Given the description of an element on the screen output the (x, y) to click on. 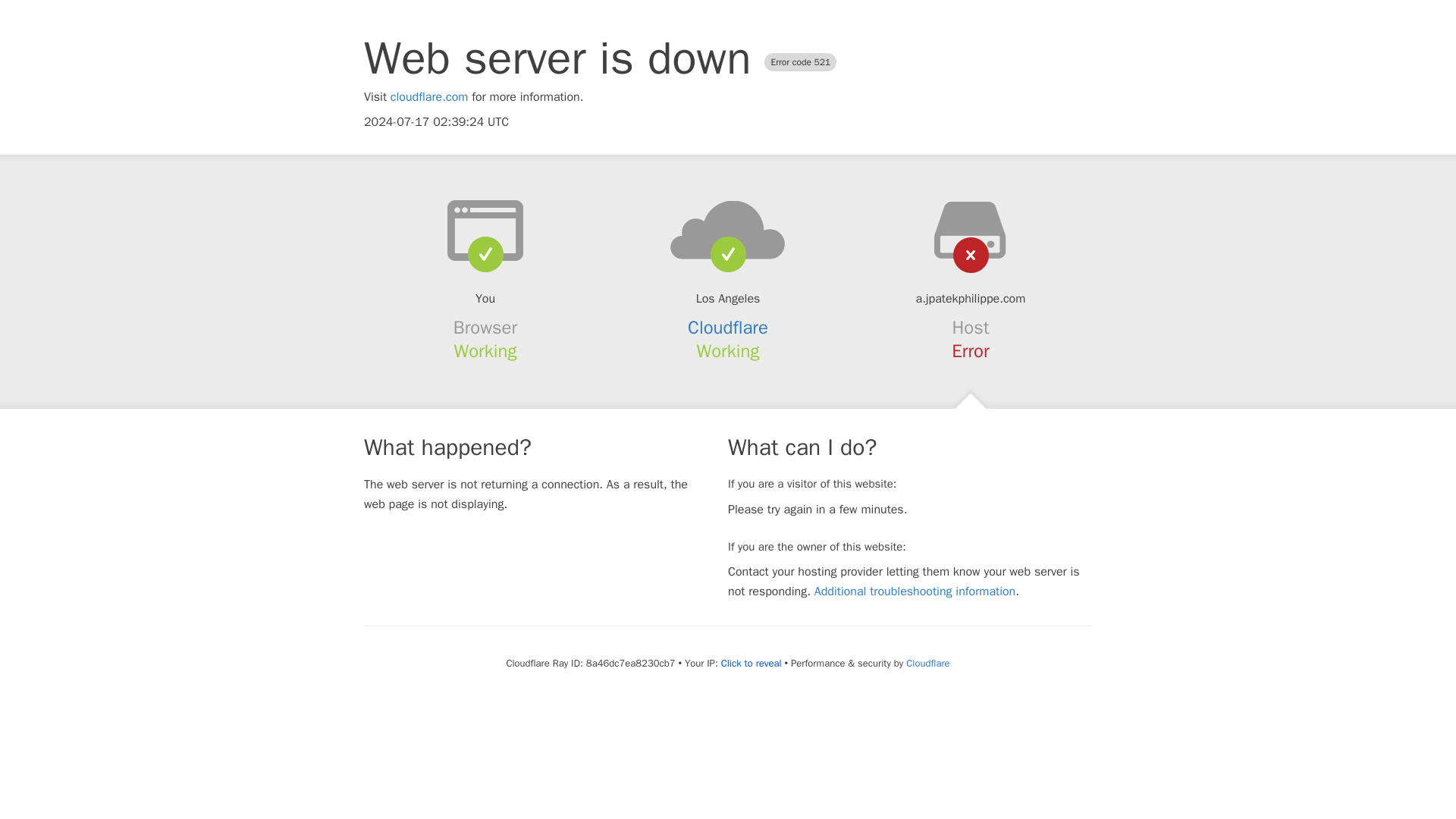
Cloudflare (727, 327)
Click to reveal (750, 663)
cloudflare.com (429, 96)
Additional troubleshooting information (913, 590)
Cloudflare (927, 662)
